Given the description of an element on the screen output the (x, y) to click on. 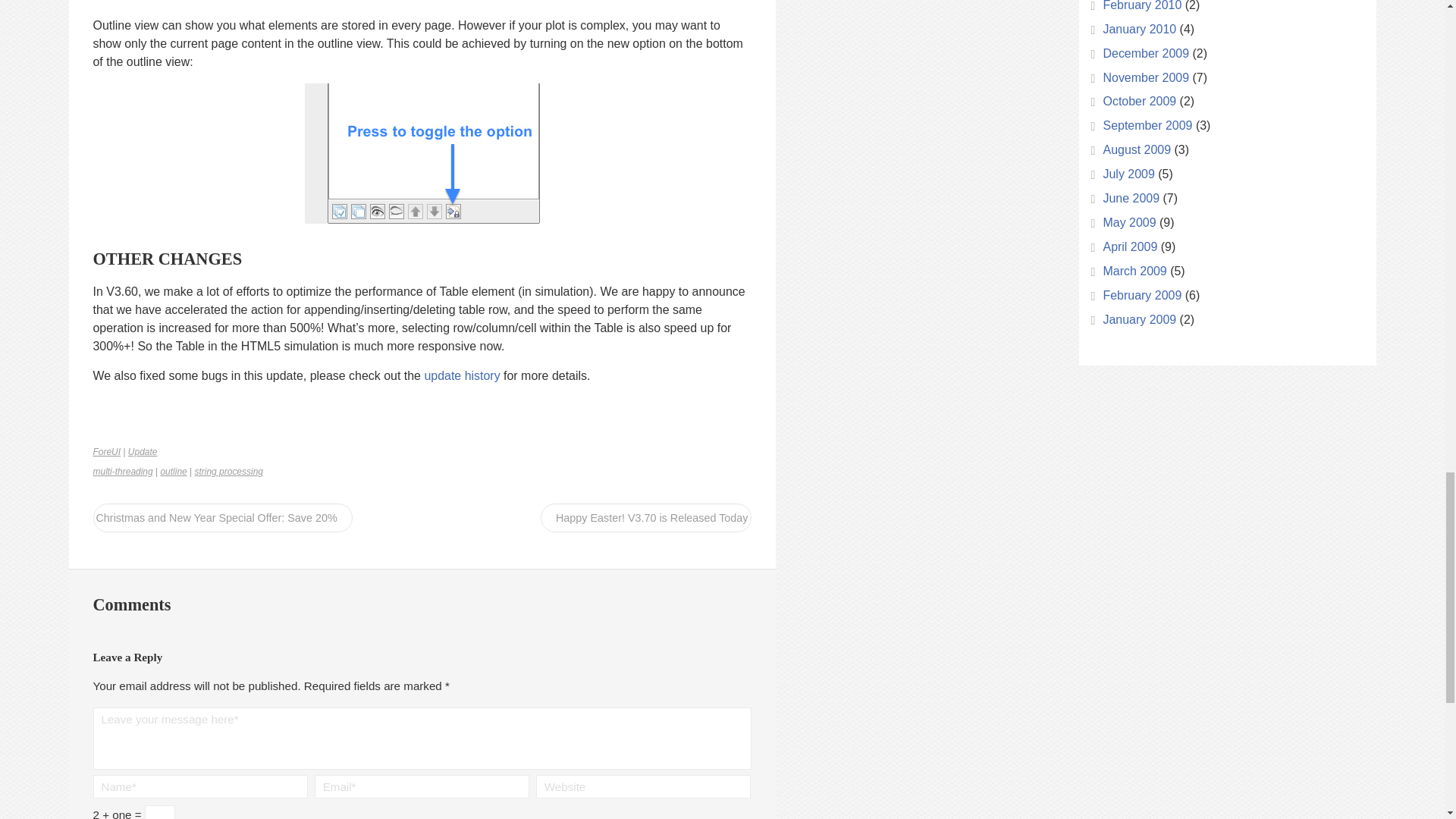
Screen Shot 2014-03-03 at 2.14.16 PM (422, 153)
ForeUI (106, 451)
string processing (227, 471)
Update (142, 451)
outline (173, 471)
update history (461, 375)
Happy Easter! V3.70 is Released Today (645, 517)
multi-threading (122, 471)
